Given the description of an element on the screen output the (x, y) to click on. 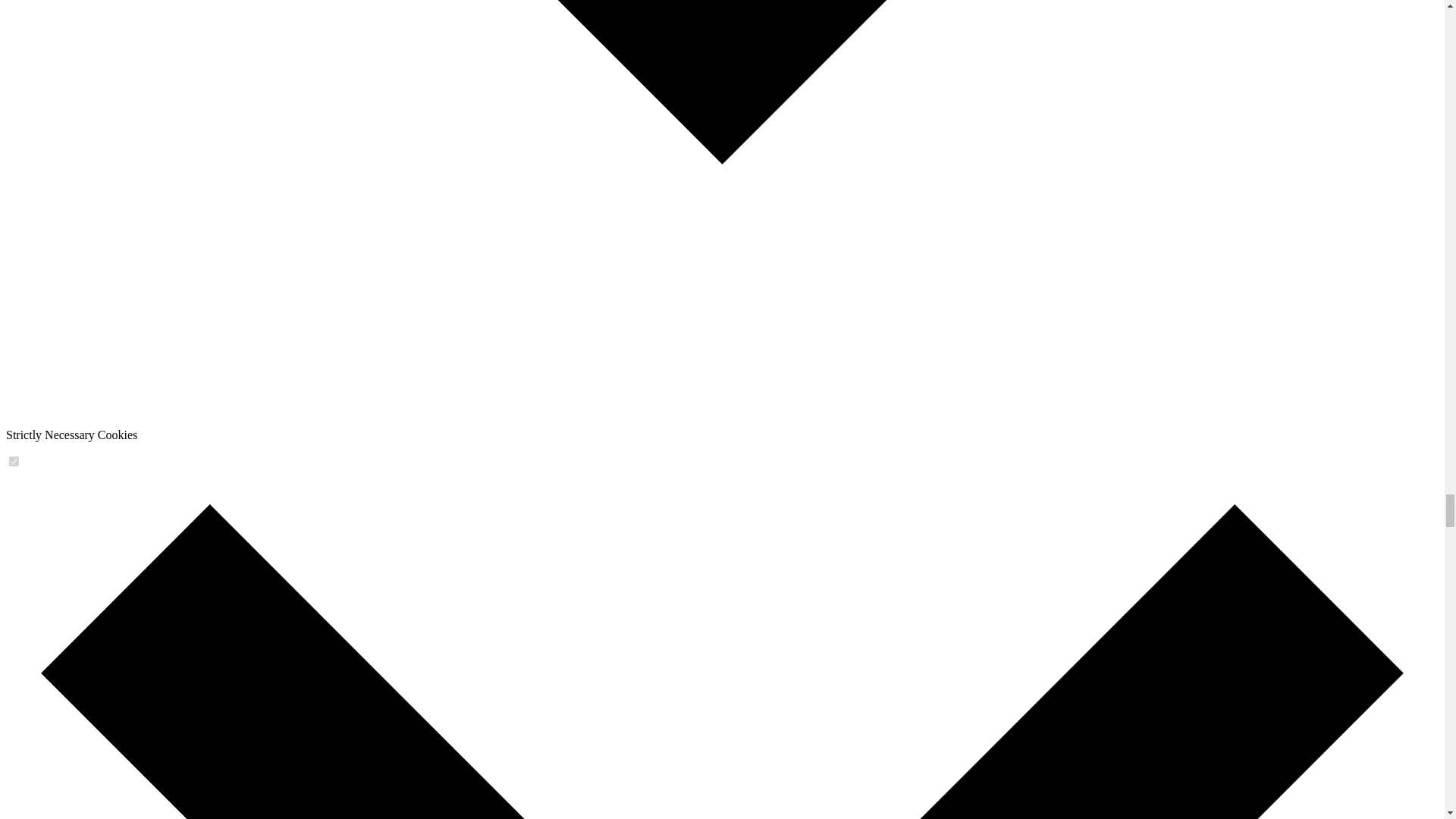
on (13, 461)
